Given the description of an element on the screen output the (x, y) to click on. 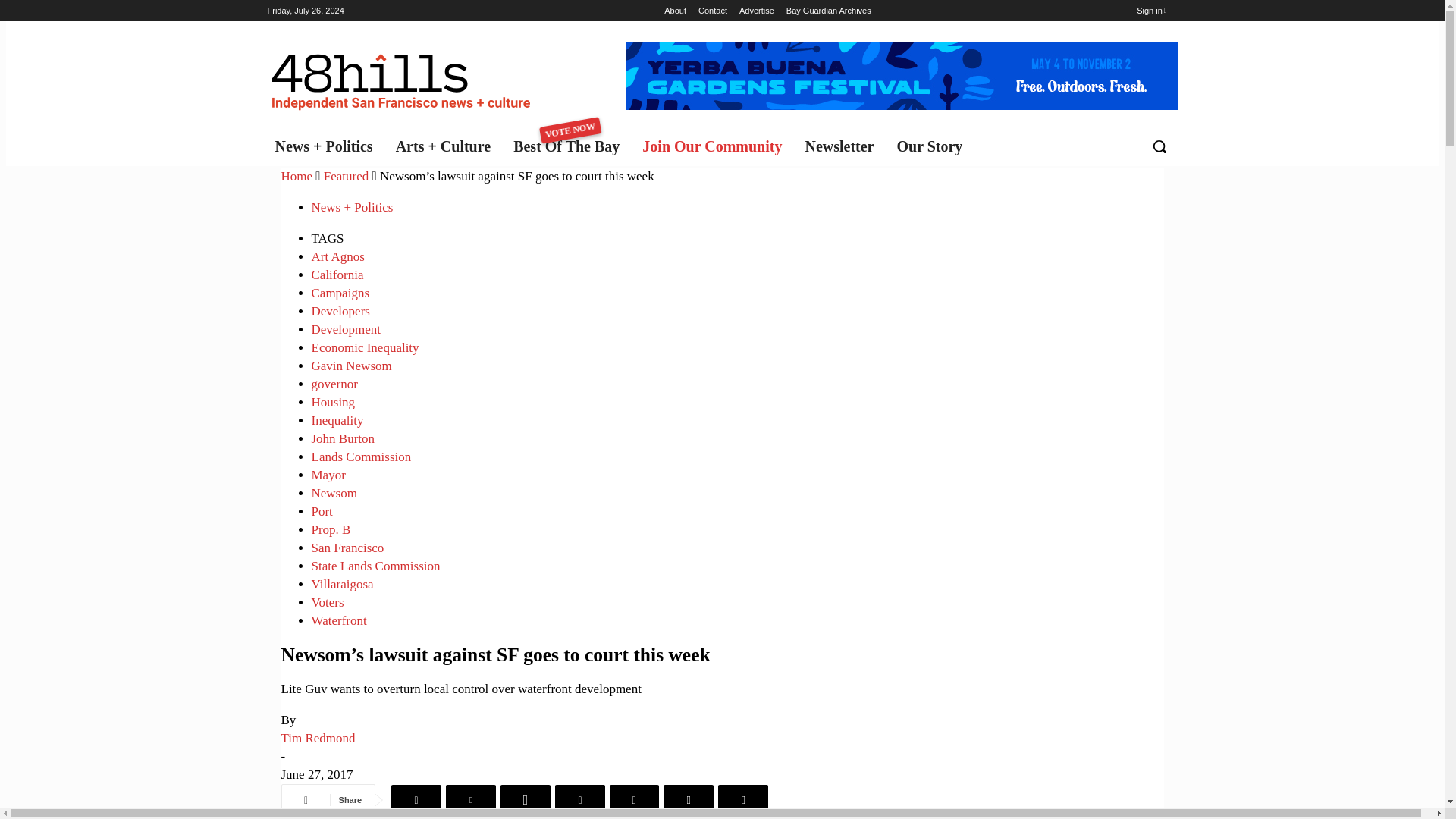
WhatsApp (525, 799)
Contact (712, 10)
Facebook (416, 799)
Newsletter (842, 145)
Twitter (569, 145)
Linkedin (470, 799)
About (579, 799)
Our Story (674, 10)
48 Hills (932, 145)
Bay Guardian Archives (403, 77)
Sign in (828, 10)
Join Our Community (1151, 10)
Advertise (715, 145)
View all posts in Featured (756, 10)
